Given the description of an element on the screen output the (x, y) to click on. 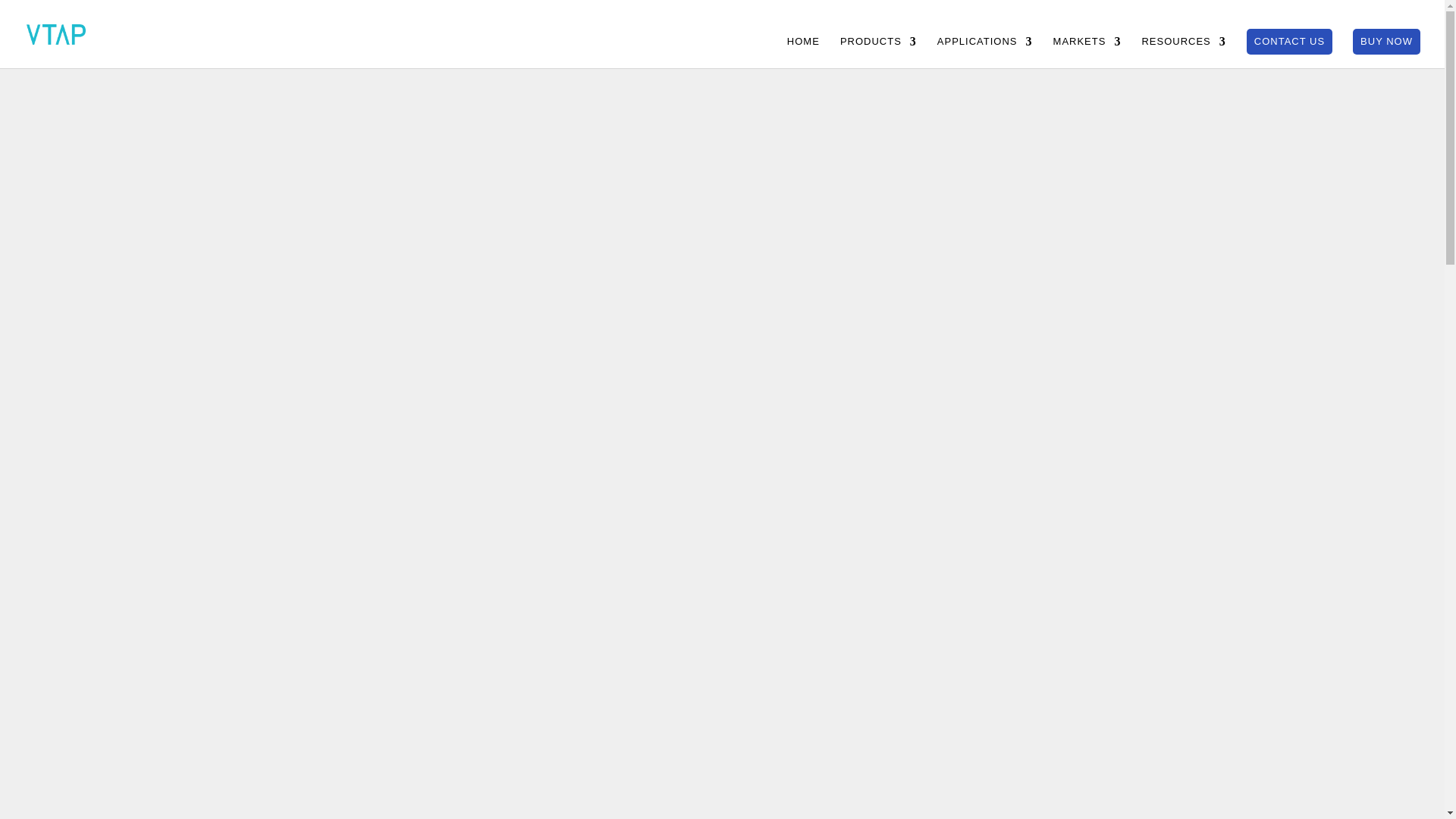
CONTACT US (1289, 41)
RESOURCES (1183, 51)
HOME (803, 51)
PRODUCTS (878, 51)
BUY NOW (1386, 41)
MARKETS (1086, 51)
APPLICATIONS (984, 51)
